Given the description of an element on the screen output the (x, y) to click on. 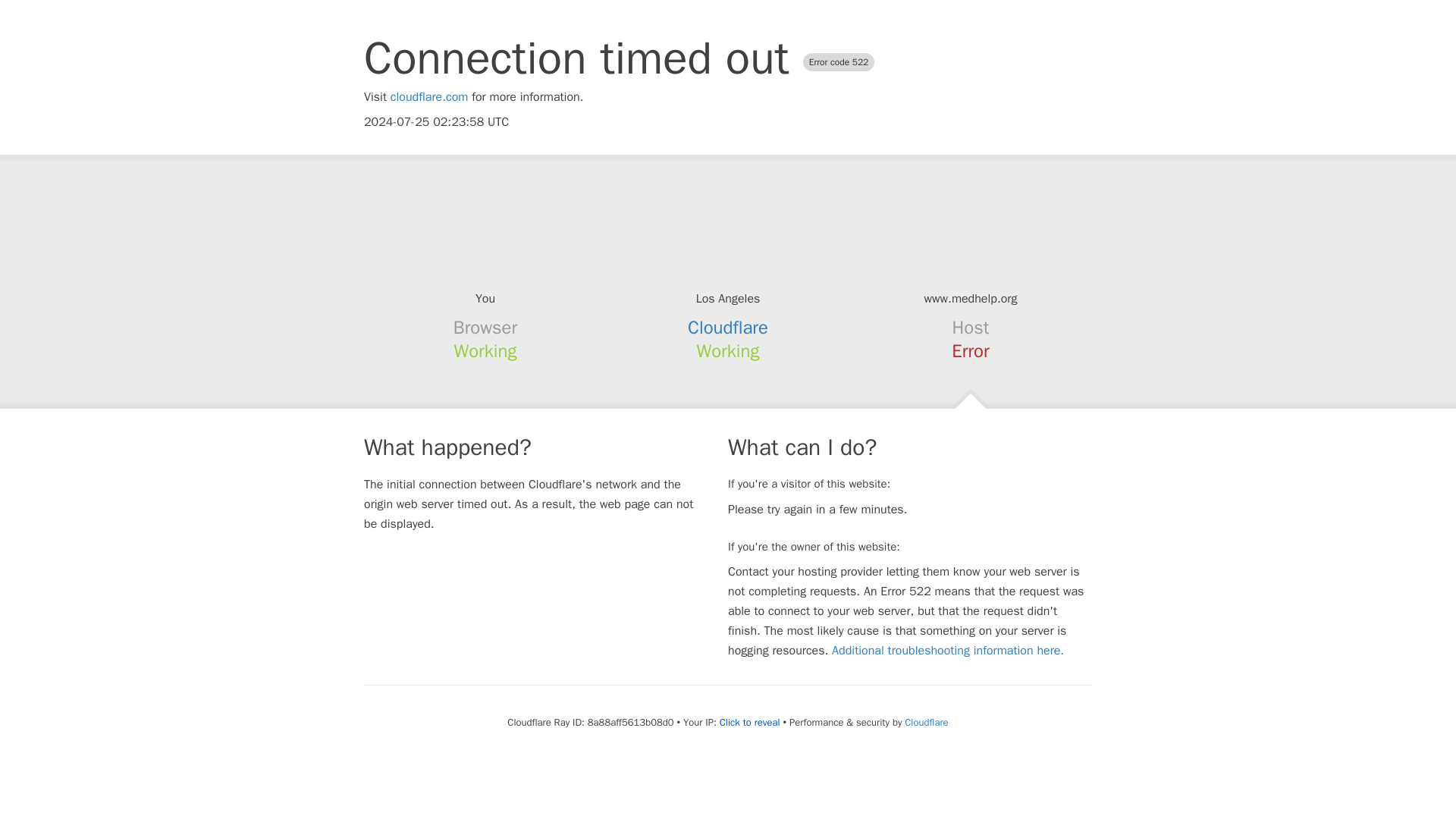
Cloudflare (925, 721)
Click to reveal (749, 722)
Additional troubleshooting information here. (947, 650)
cloudflare.com (429, 96)
Cloudflare (727, 327)
